Given the description of an element on the screen output the (x, y) to click on. 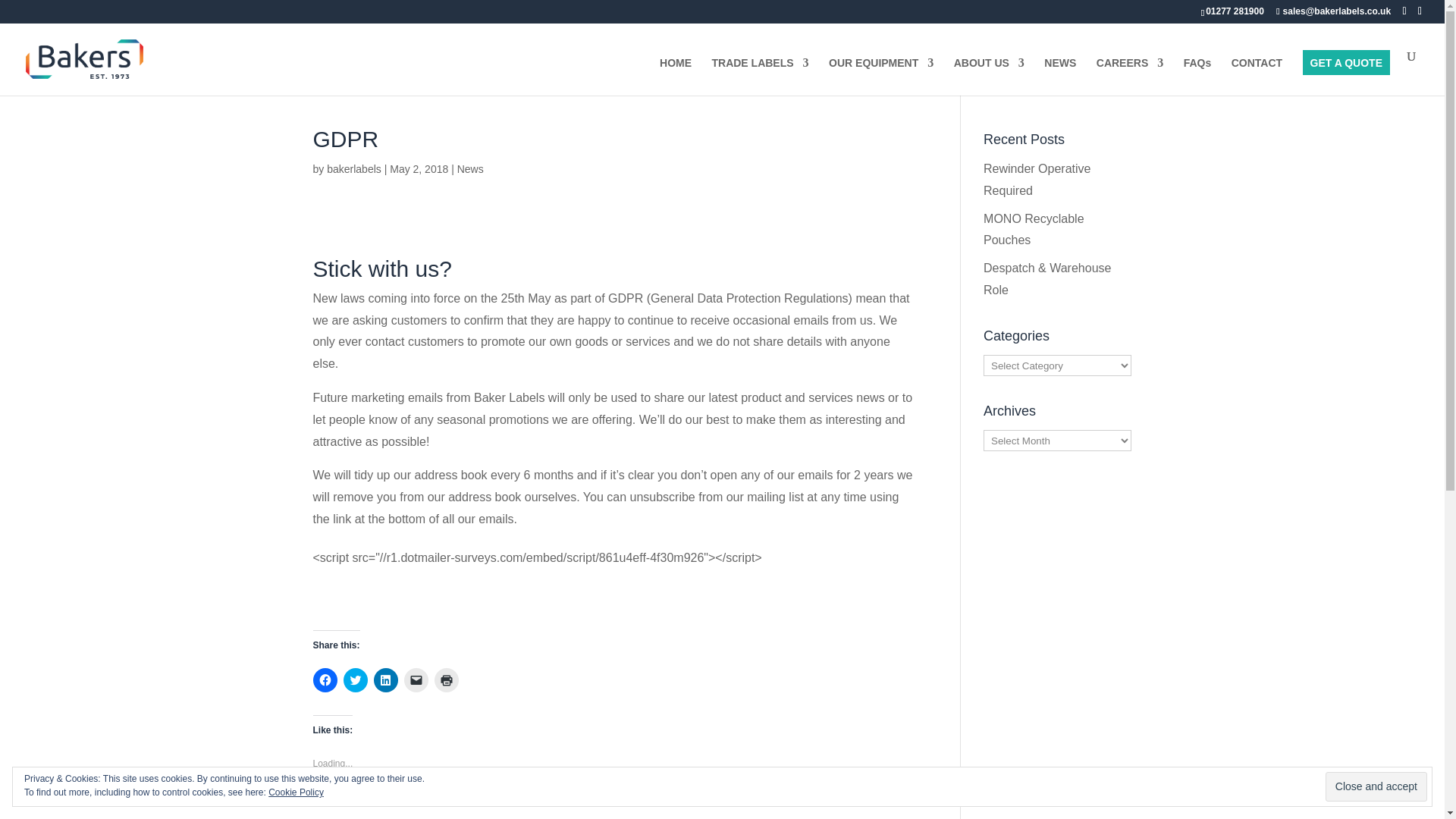
Click to share on Twitter (354, 680)
Click to email a link to a friend (415, 680)
Close and accept (1375, 786)
CAREERS (1129, 76)
Click to print (445, 680)
GET A QUOTE (1345, 76)
TRADE LABELS (759, 76)
CONTACT (1256, 76)
Posts by bakerlabels (353, 168)
Click to share on Facebook (324, 680)
